Given the description of an element on the screen output the (x, y) to click on. 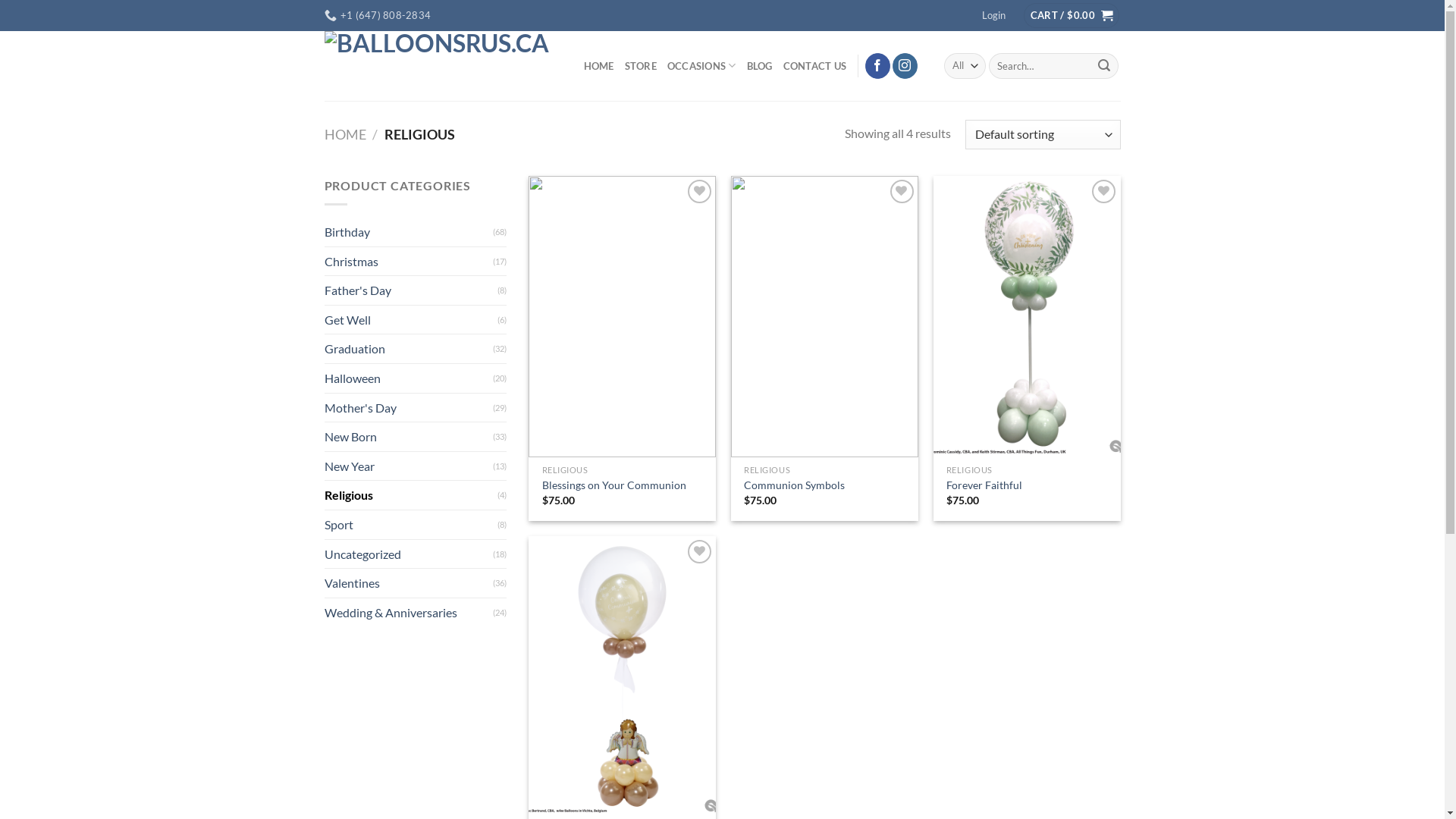
Uncategorized Element type: text (408, 553)
Follow on Facebook Element type: hover (877, 65)
Birthday Element type: text (408, 231)
Get Well Element type: text (410, 319)
HOME Element type: text (598, 65)
Mother's Day Element type: text (408, 407)
HOME Element type: text (345, 133)
Blessings on Your Communion Element type: text (614, 485)
OCCASIONS Element type: text (701, 65)
Graduation Element type: text (408, 348)
Halloween Element type: text (408, 378)
Wedding & Anniversaries Element type: text (408, 612)
New Year Element type: text (408, 465)
Login Element type: text (993, 14)
Communion Symbols Element type: text (793, 485)
Religious Element type: text (410, 494)
Christmas Element type: text (408, 261)
CONTACT US Element type: text (815, 65)
Follow on Instagram Element type: hover (904, 65)
STORE Element type: text (640, 65)
Sport Element type: text (410, 524)
New Born Element type: text (408, 436)
BLOG Element type: text (759, 65)
Valentines Element type: text (408, 582)
Search Element type: text (1104, 65)
Father's Day Element type: text (410, 290)
+1 (647) 808-2834 Element type: text (377, 14)
Forever Faithful Element type: text (984, 485)
CART / $0.00 Element type: text (1071, 15)
